Given the description of an element on the screen output the (x, y) to click on. 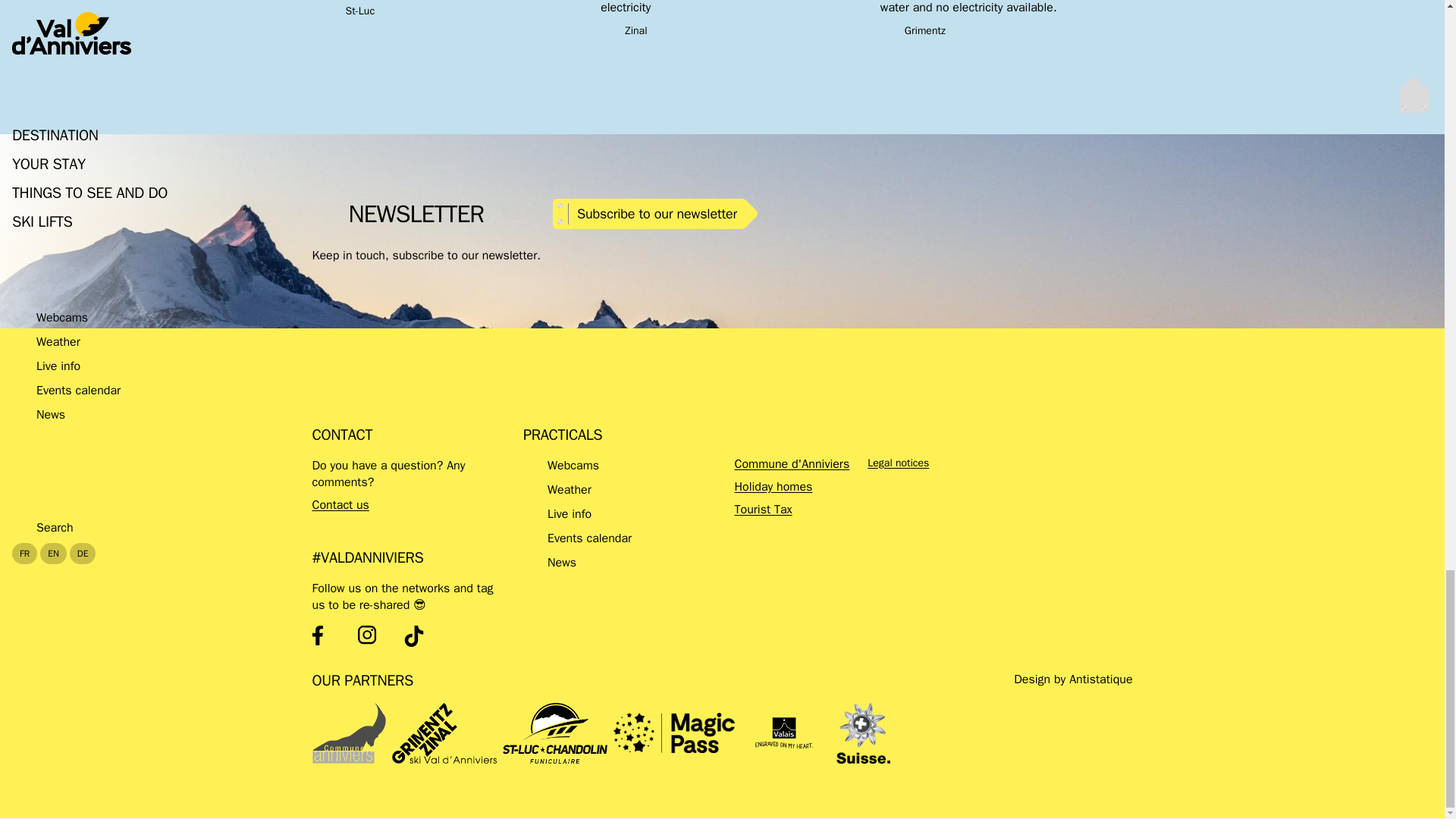
Back to top (1417, 91)
Subscribe to our newsletter (655, 231)
